Given the description of an element on the screen output the (x, y) to click on. 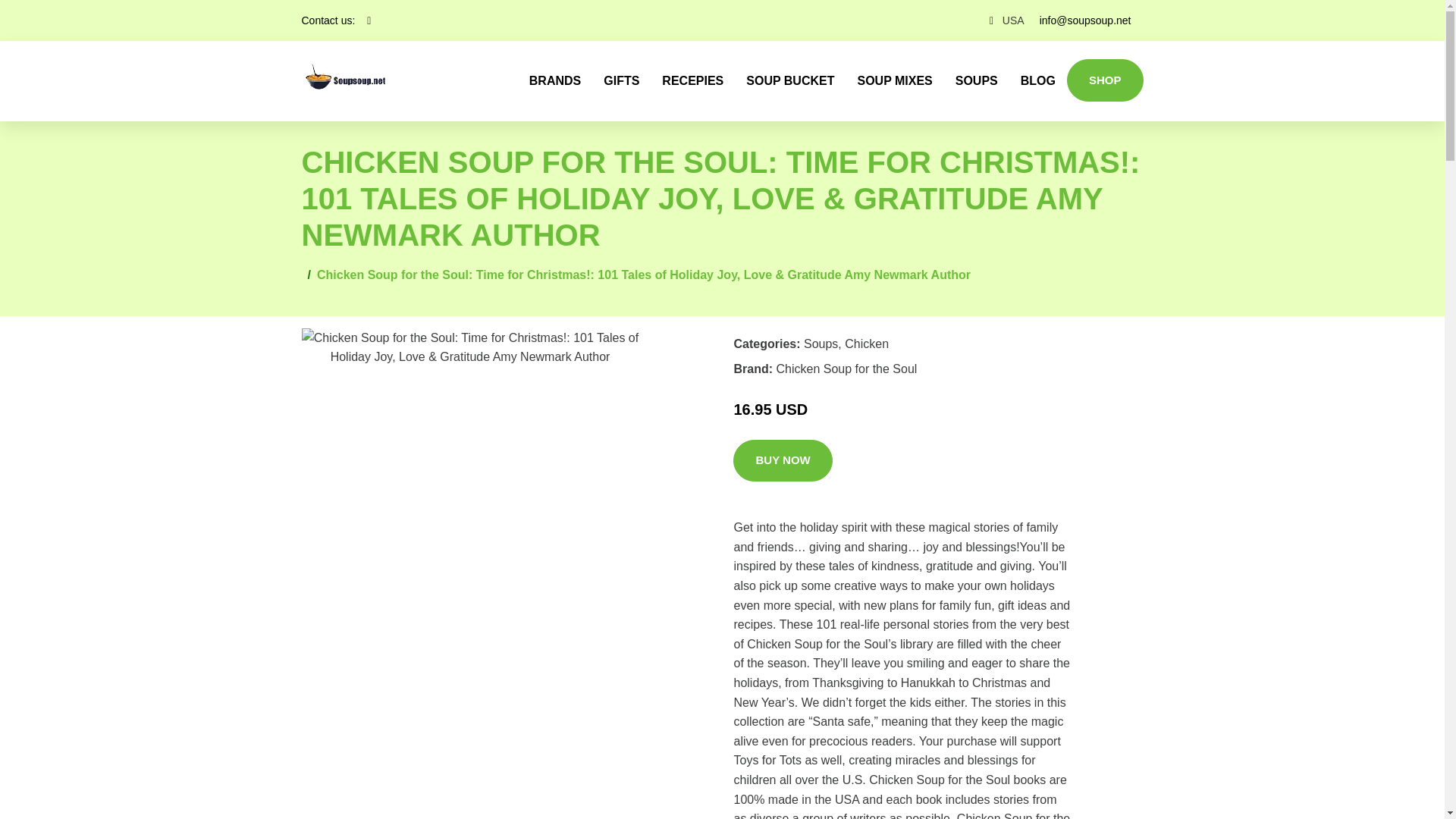
SHOP (1104, 79)
USA (1014, 20)
RECEPIES (692, 80)
BUY NOW (782, 460)
BRANDS (555, 80)
Soups (820, 343)
Chicken (866, 343)
SOUP MIXES (894, 80)
SOUP BUCKET (790, 80)
